Given the description of an element on the screen output the (x, y) to click on. 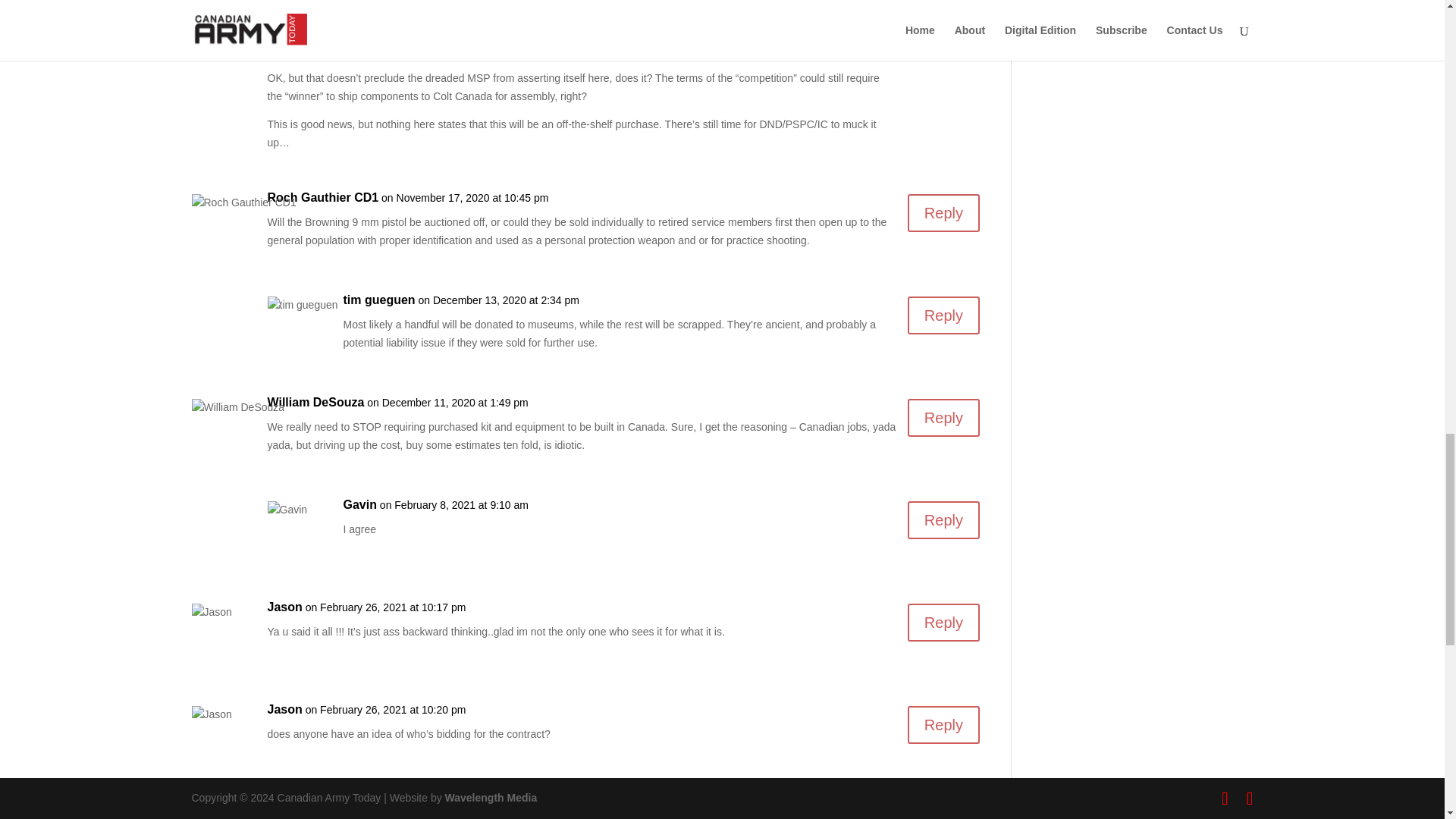
Reply (943, 417)
Roch Gauthier CD1 (322, 198)
Reply (943, 622)
Reply (943, 724)
Reply (943, 813)
Reply (943, 519)
Reply (943, 212)
tim gueguen (378, 300)
Reply (943, 315)
Reply (943, 39)
